Given the description of an element on the screen output the (x, y) to click on. 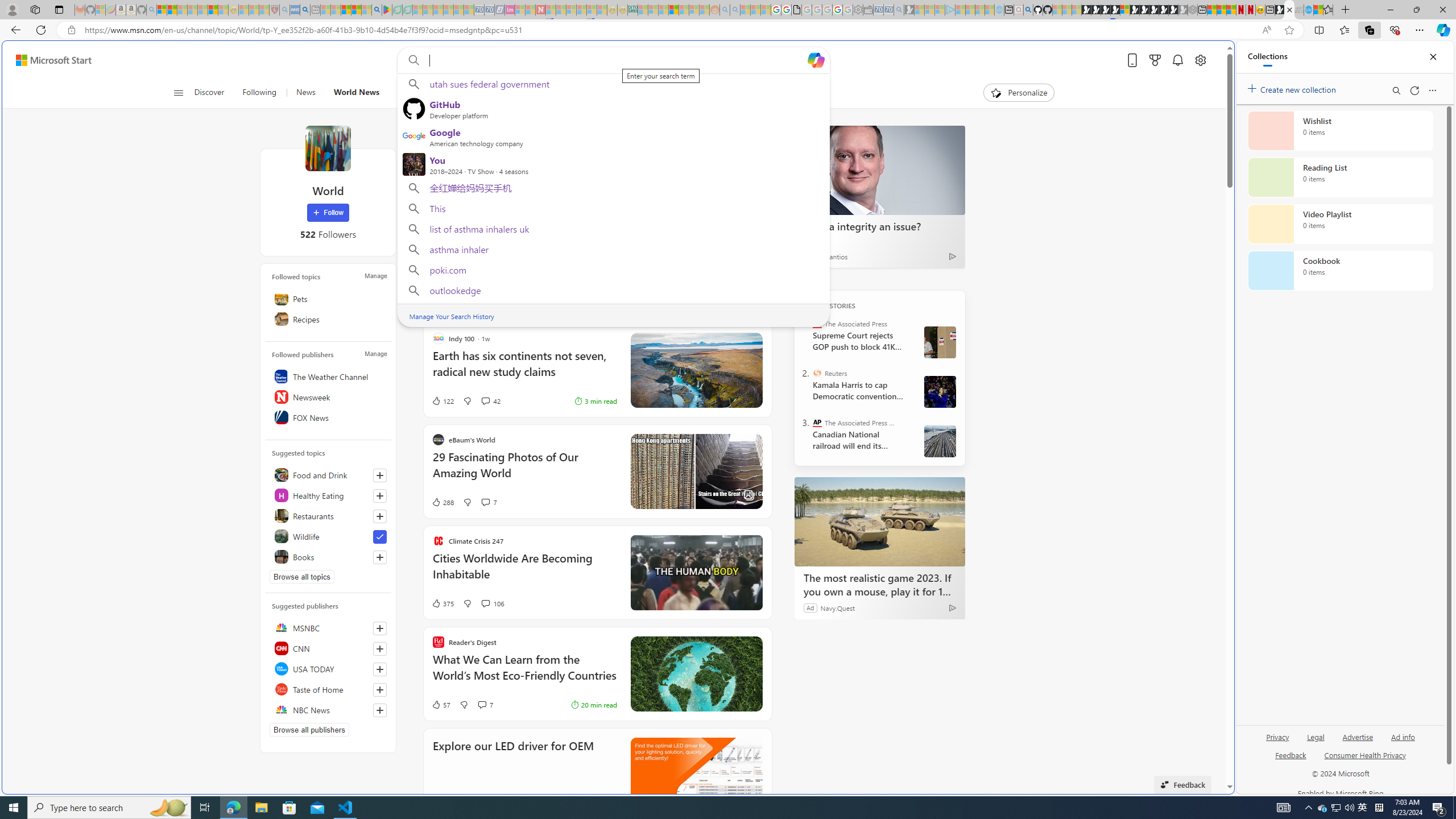
Wishlist collection, 0 items (1339, 130)
